Given the description of an element on the screen output the (x, y) to click on. 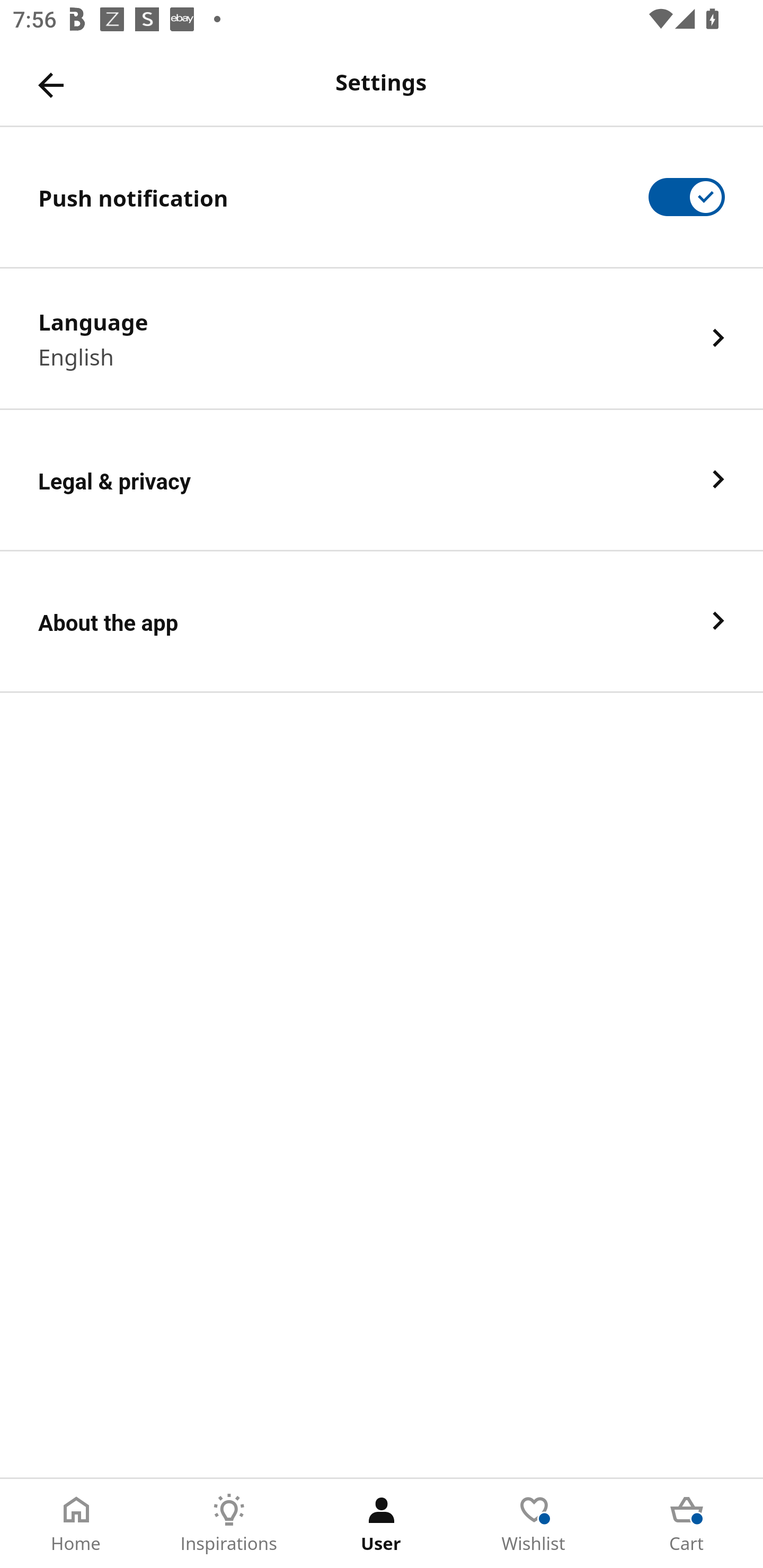
Push notification (381, 196)
Language
English (381, 338)
Legal & privacy (381, 480)
About the app (381, 622)
Home
Tab 1 of 5 (76, 1522)
Inspirations
Tab 2 of 5 (228, 1522)
User
Tab 3 of 5 (381, 1522)
Wishlist
Tab 4 of 5 (533, 1522)
Cart
Tab 5 of 5 (686, 1522)
